Given the description of an element on the screen output the (x, y) to click on. 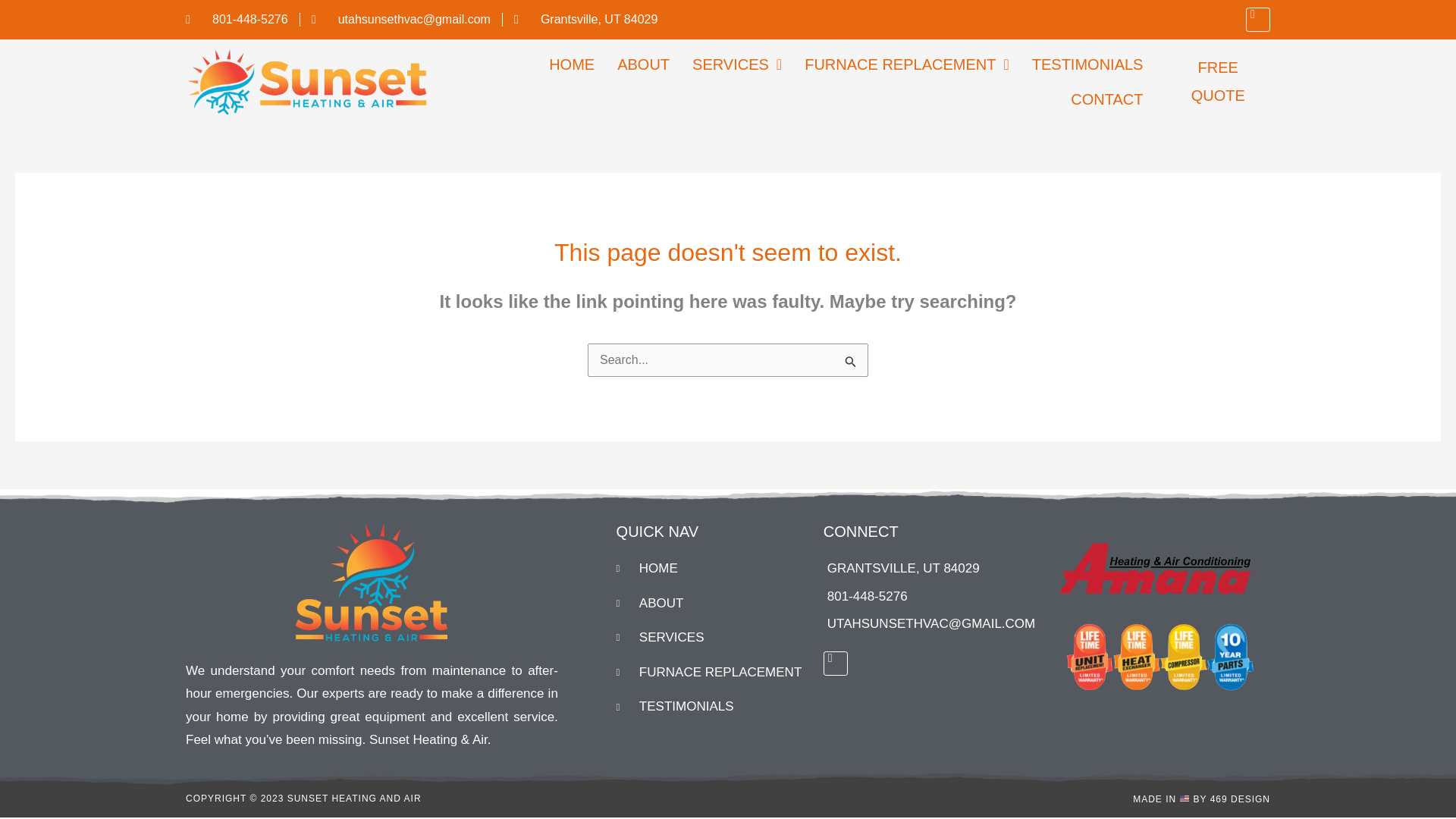
ABOUT (643, 63)
Icon-facebook (835, 663)
FURNACE REPLACEMENT (711, 672)
801-448-5276 (237, 19)
HOME (571, 63)
FURNACE REPLACEMENT (906, 63)
CONTACT (1106, 99)
Icon-facebook (1257, 19)
SERVICES (711, 637)
TESTIMONIALS (711, 706)
Grantsville, UT 84029 (585, 19)
HOME (711, 568)
ABOUT (711, 603)
801-448-5276 (927, 596)
SERVICES (737, 63)
